Given the description of an element on the screen output the (x, y) to click on. 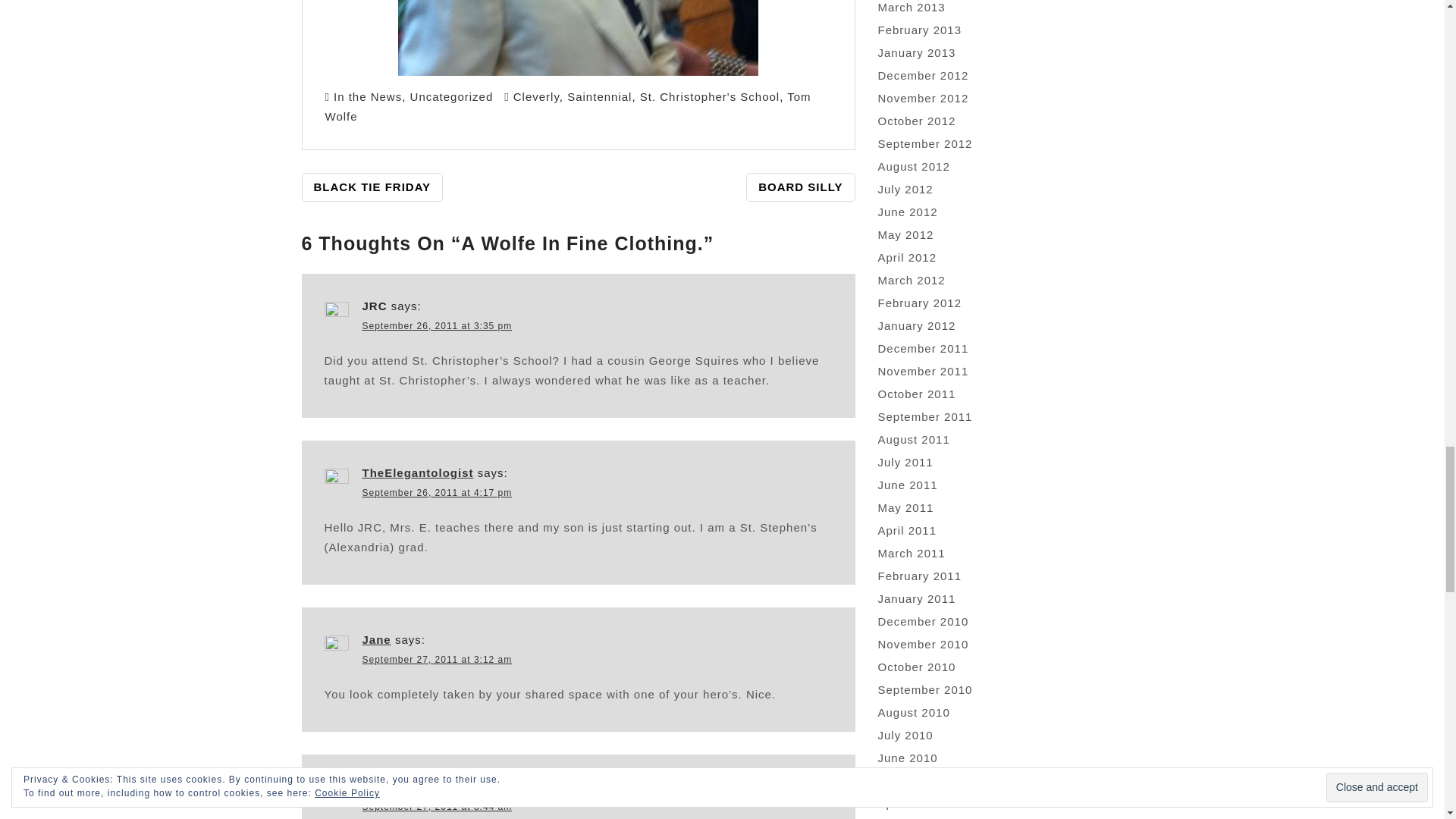
TheElegantologist (418, 472)
Saintennial (599, 96)
September 26, 2011 at 4:17 pm (437, 492)
In the News (367, 96)
St. Christopher's School (709, 96)
BOARD SILLY (799, 186)
September 27, 2011 at 3:12 am (437, 659)
BLACK TIE FRIDAY (372, 186)
Jane (376, 639)
Uncategorized (451, 96)
Cleverly (536, 96)
September 27, 2011 at 8:44 am (437, 806)
Tom Wolfe (567, 106)
September 26, 2011 at 3:35 pm (437, 326)
